Given the description of an element on the screen output the (x, y) to click on. 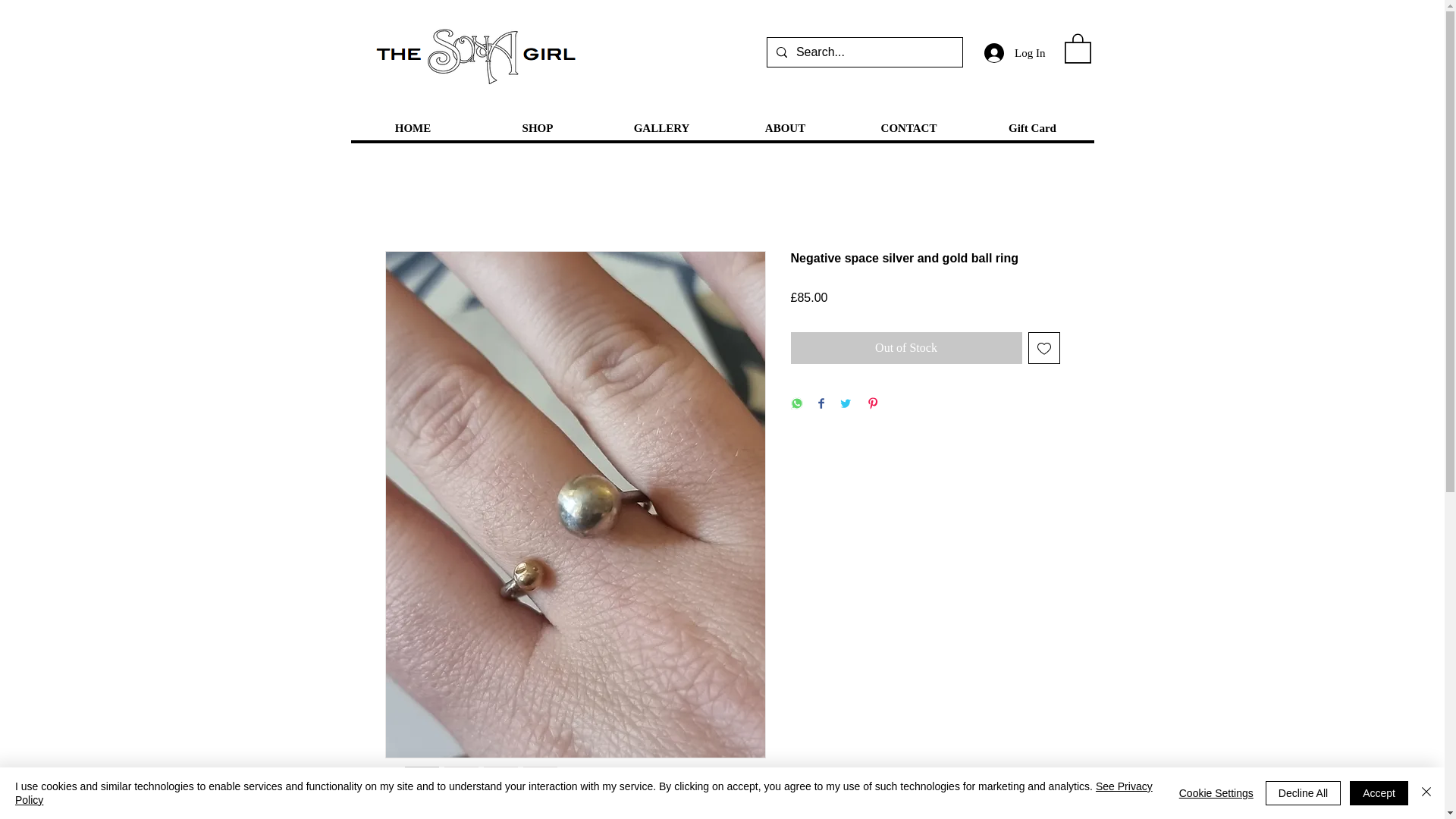
GALLERY (660, 128)
CONTACT (907, 128)
Log In (1014, 52)
Gift Card (1032, 128)
Accept (1378, 793)
The Sona Girl (474, 55)
SHOP (536, 128)
Decline All (1302, 793)
ABOUT (785, 128)
HOME (412, 128)
